Given the description of an element on the screen output the (x, y) to click on. 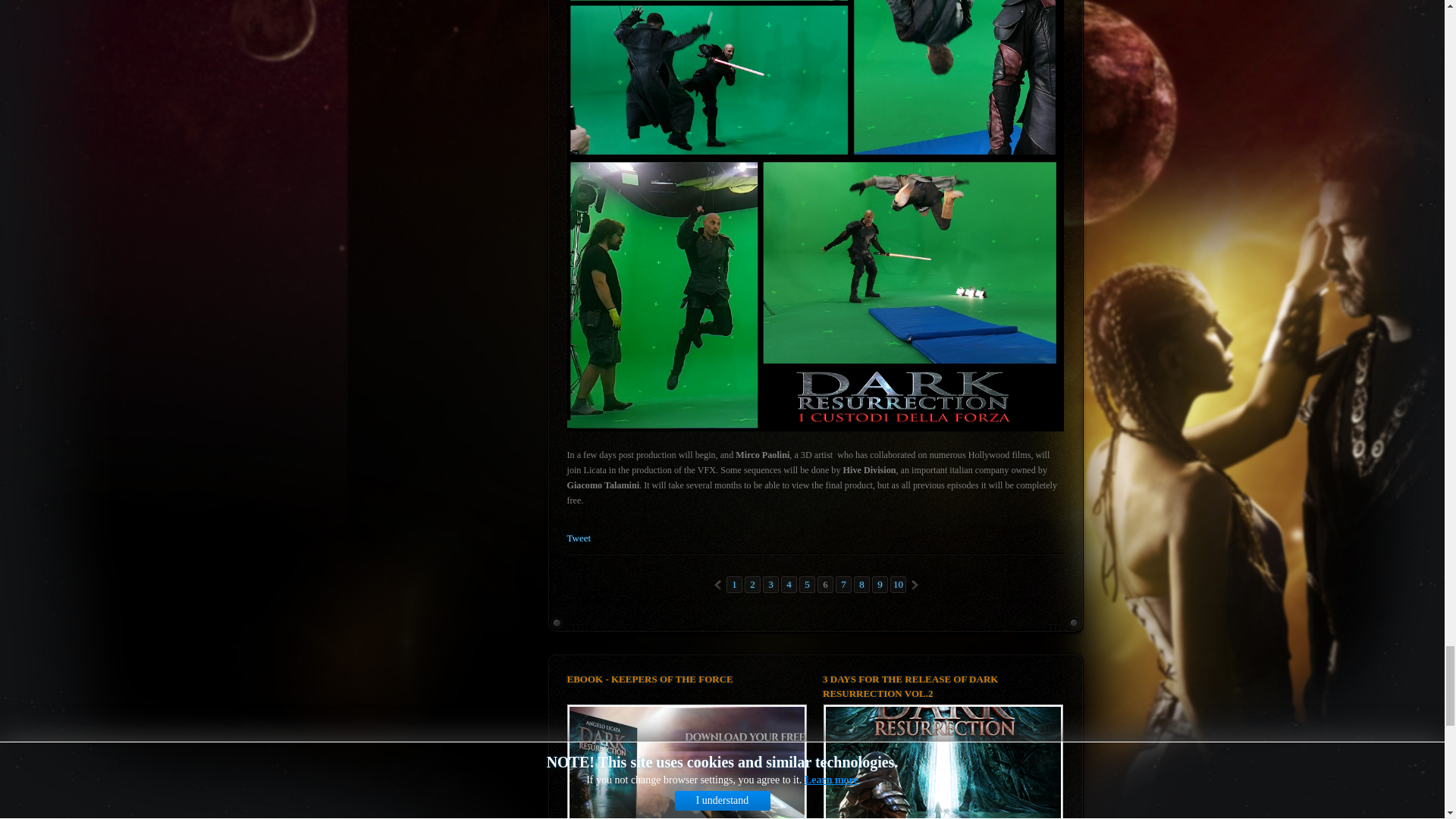
4 (788, 584)
2 (752, 584)
9 (880, 584)
3 (770, 584)
8 (861, 584)
5 (807, 584)
1 (734, 584)
7 (843, 584)
